Given the description of an element on the screen output the (x, y) to click on. 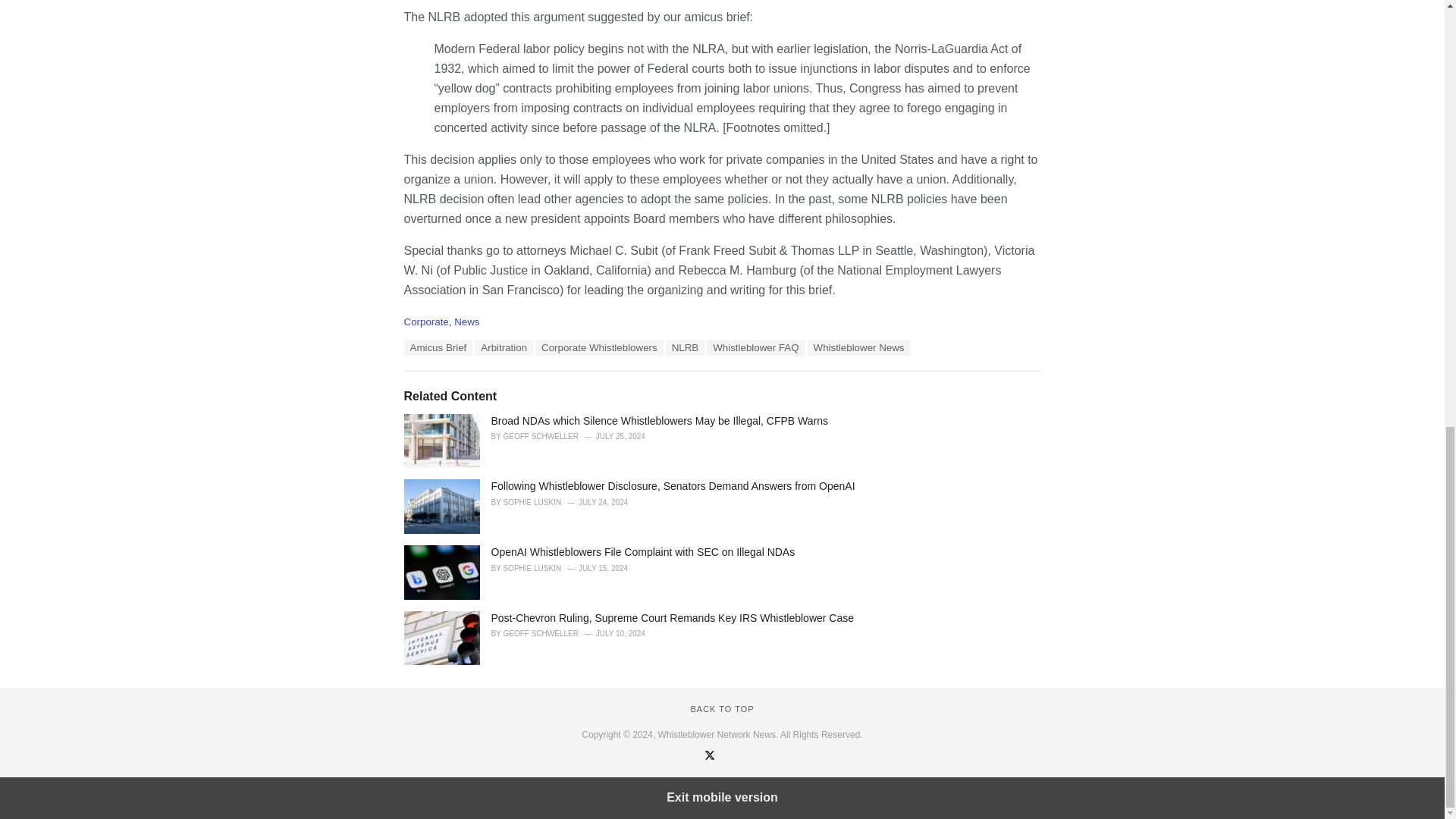
NLRB (684, 347)
Corporate (425, 321)
Arbitration (503, 347)
Whistleblower FAQ (755, 347)
News (466, 321)
Whistleblower News (859, 347)
